Given the description of an element on the screen output the (x, y) to click on. 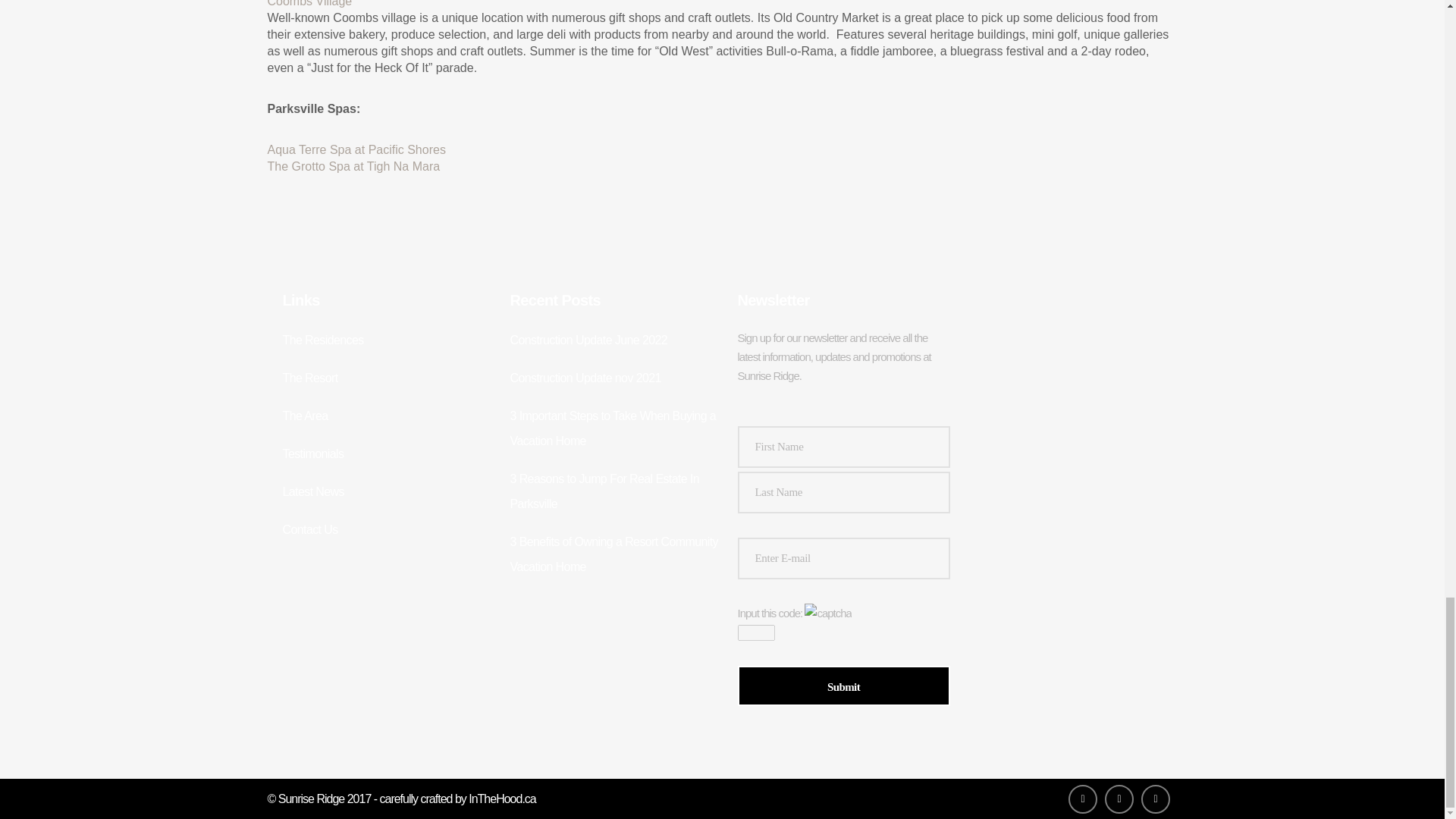
Submit (842, 685)
